Given the description of an element on the screen output the (x, y) to click on. 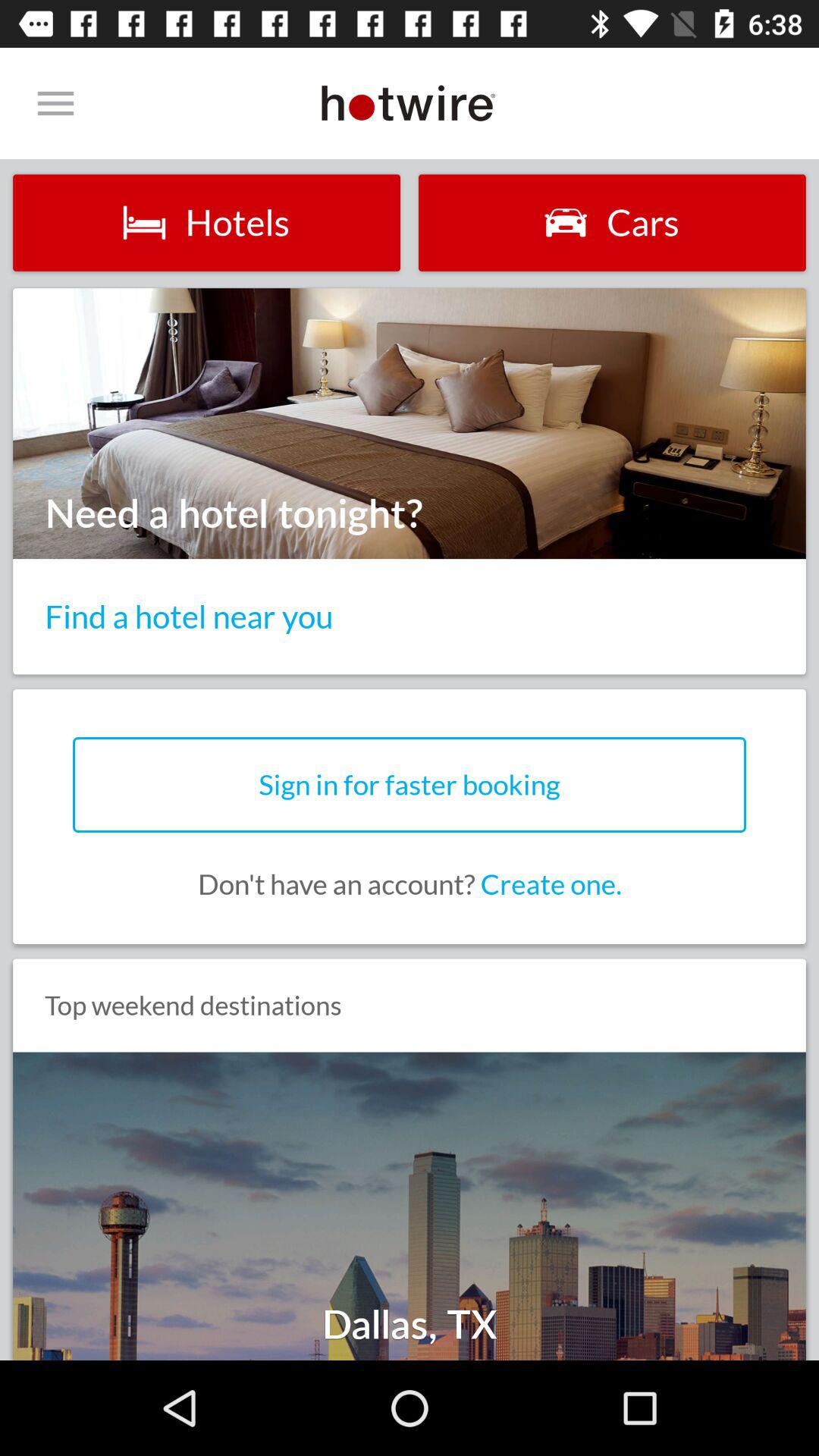
select icon below the find a hotel item (409, 784)
